Given the description of an element on the screen output the (x, y) to click on. 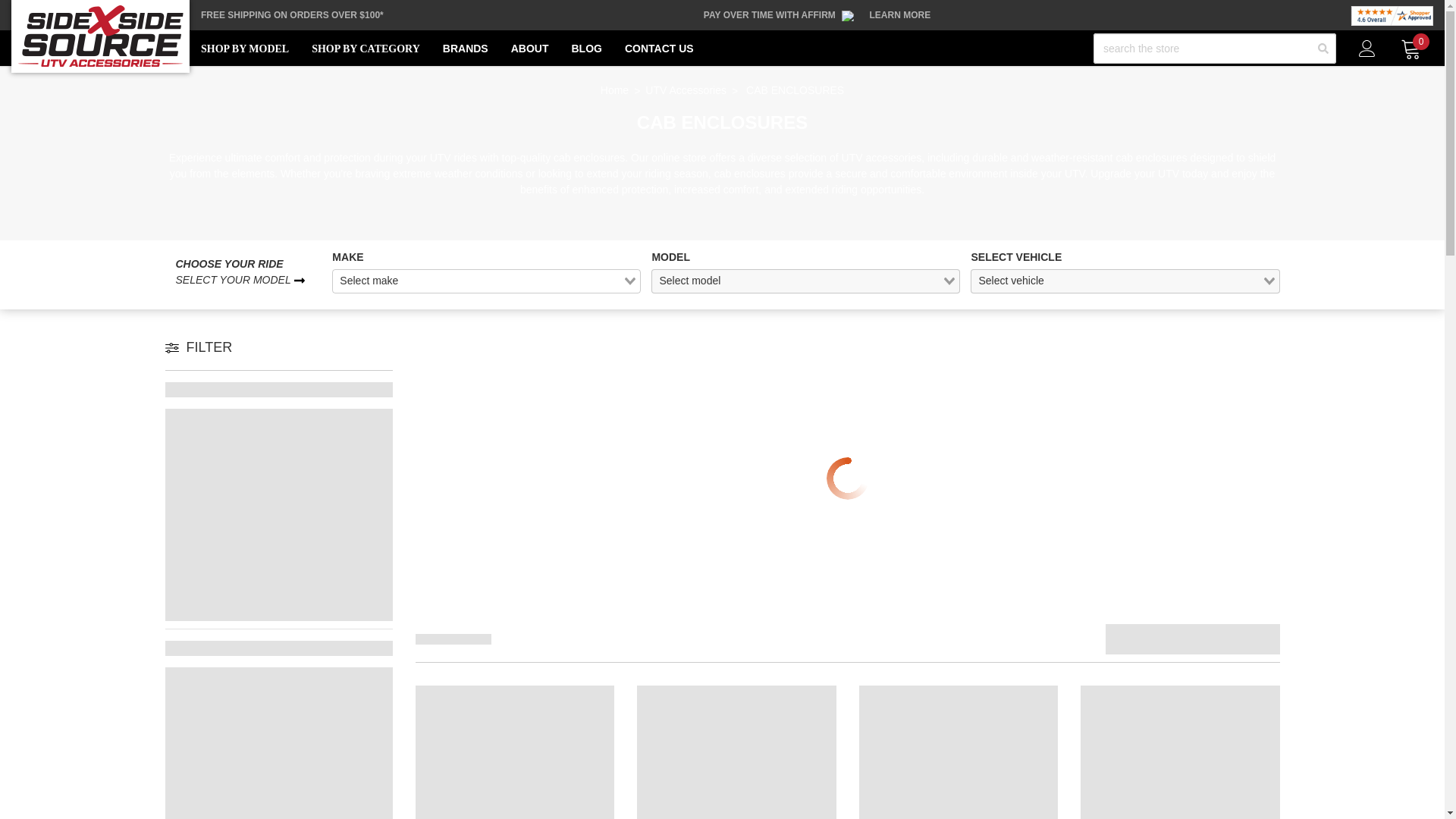
LEARN MORE (900, 14)
SHOP BY MODEL (244, 48)
Side by Side Source (100, 36)
